Given the description of an element on the screen output the (x, y) to click on. 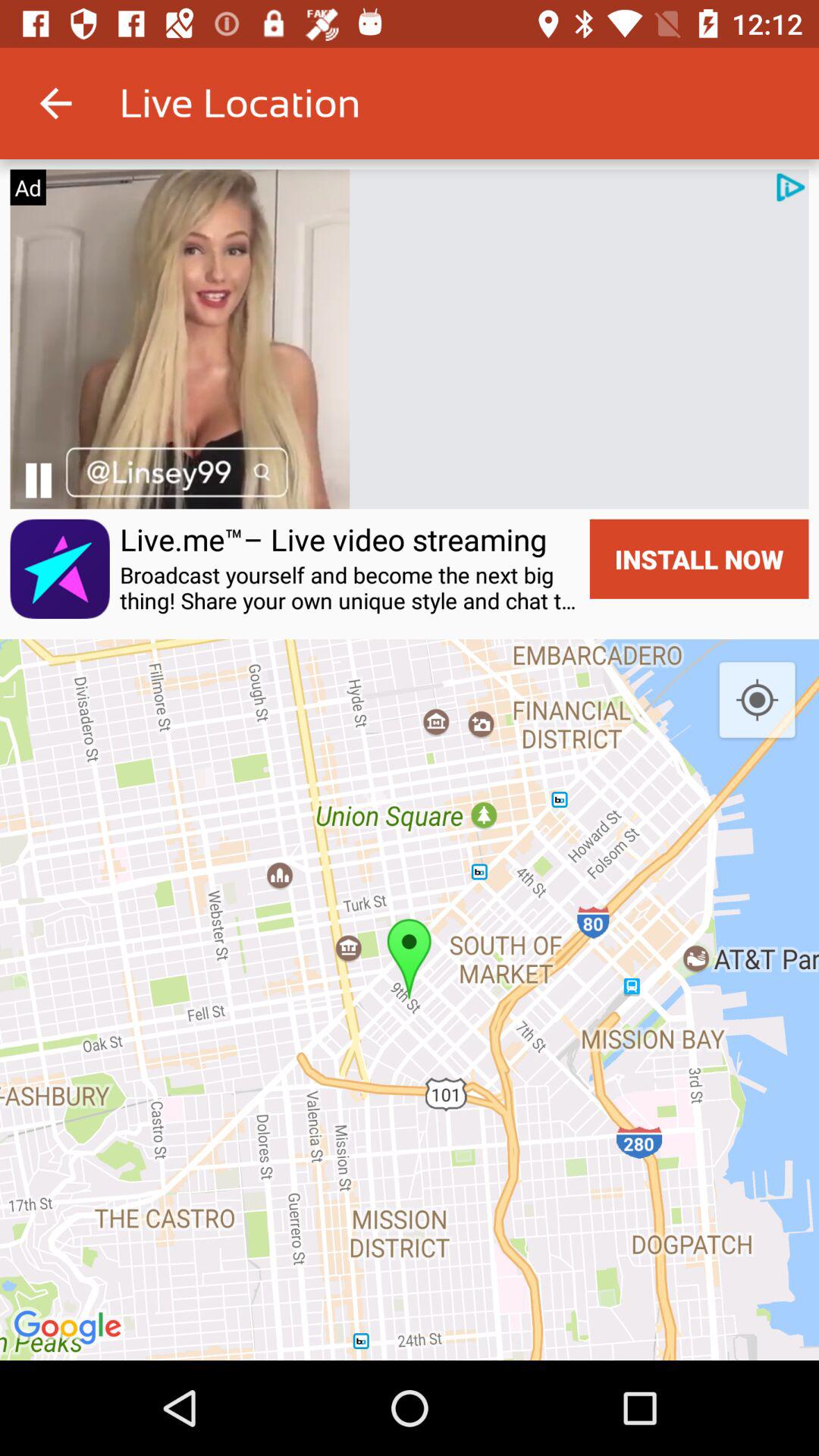
tap item to the left of the live me live (59, 568)
